Given the description of an element on the screen output the (x, y) to click on. 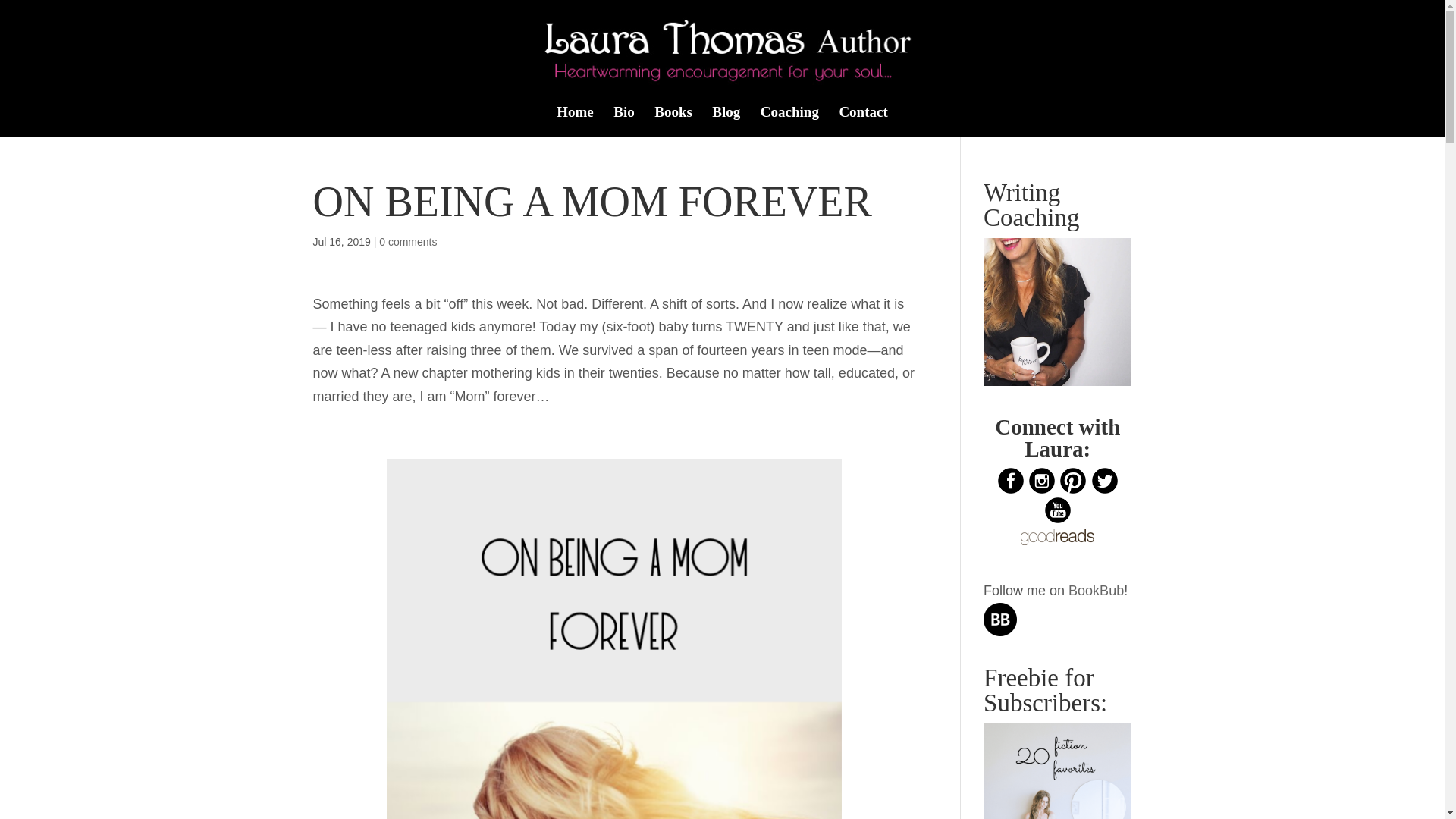
Coaching (789, 121)
Home (575, 121)
Blog (725, 121)
Contact (862, 121)
Books (673, 121)
BookBub (1096, 590)
0 comments (407, 241)
